Given the description of an element on the screen output the (x, y) to click on. 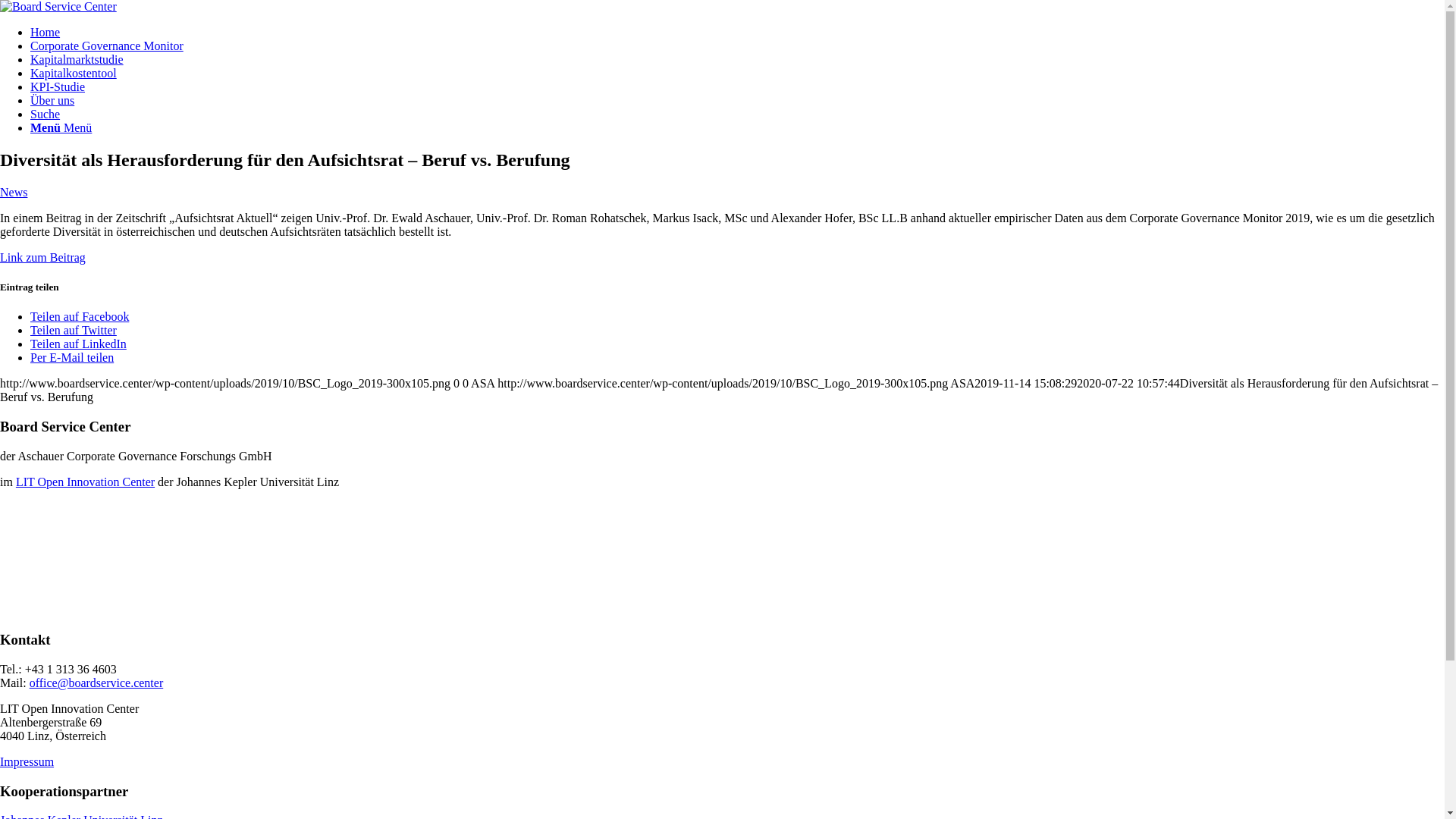
News Element type: text (13, 191)
Impressum Element type: text (26, 761)
Suche Element type: text (44, 113)
Link zum Beitrag Element type: text (42, 257)
Per E-Mail teilen Element type: text (71, 357)
Teilen auf Twitter Element type: text (73, 329)
LIT Open Innovation Center Element type: text (84, 481)
KPI-Studie Element type: text (57, 86)
Teilen auf LinkedIn Element type: text (78, 343)
Corporate Governance Monitor Element type: text (106, 45)
Kapitalkostentool Element type: text (73, 72)
Teilen auf Facebook Element type: text (79, 316)
office@boardservice.center Element type: text (96, 682)
Kapitalmarktstudie Element type: text (76, 59)
Home Element type: text (44, 31)
